Given the description of an element on the screen output the (x, y) to click on. 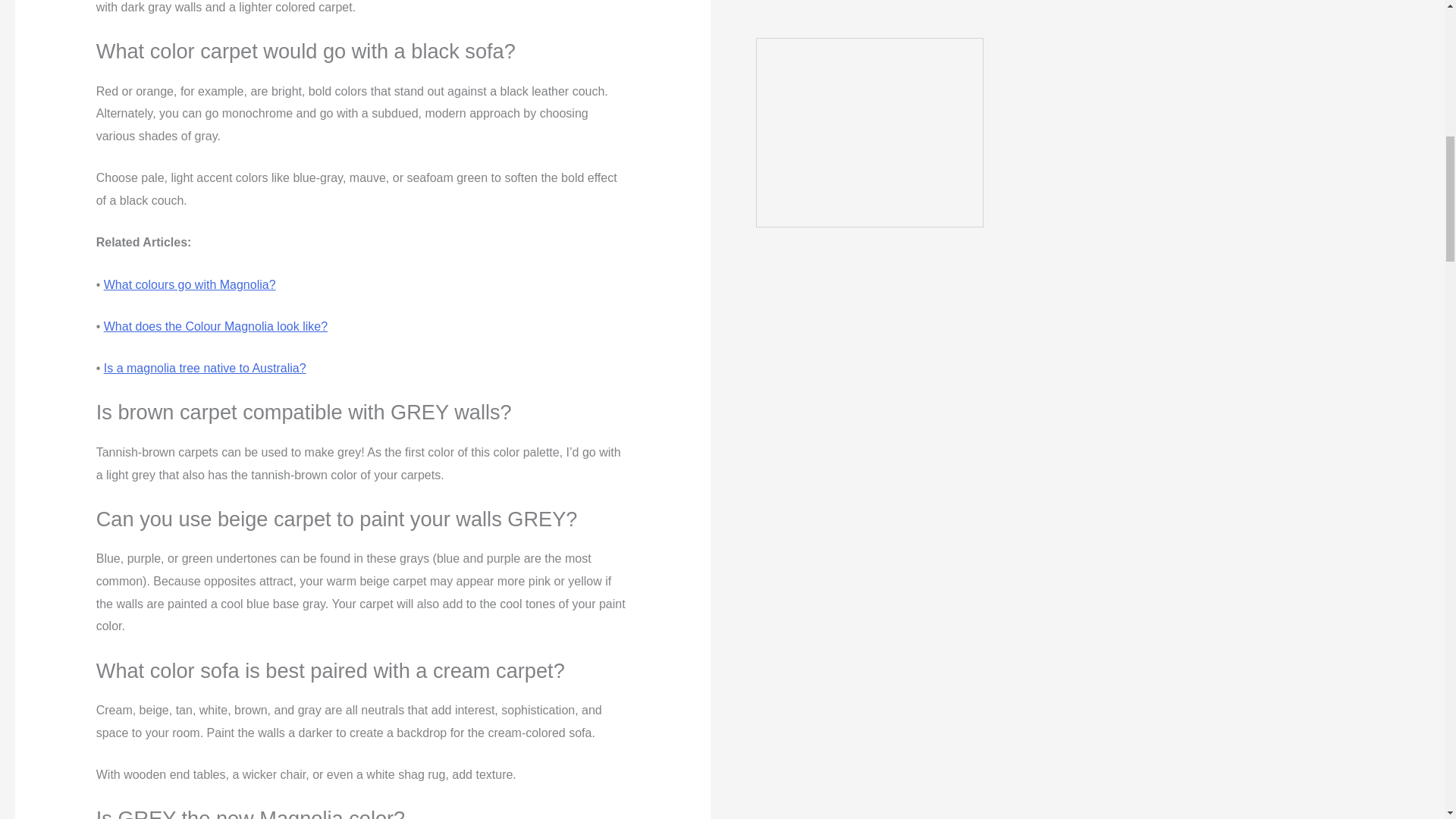
What does the Colour Magnolia look like? (215, 326)
What colours go with Magnolia? (189, 284)
Is a magnolia tree native to Australia? (204, 367)
